Given the description of an element on the screen output the (x, y) to click on. 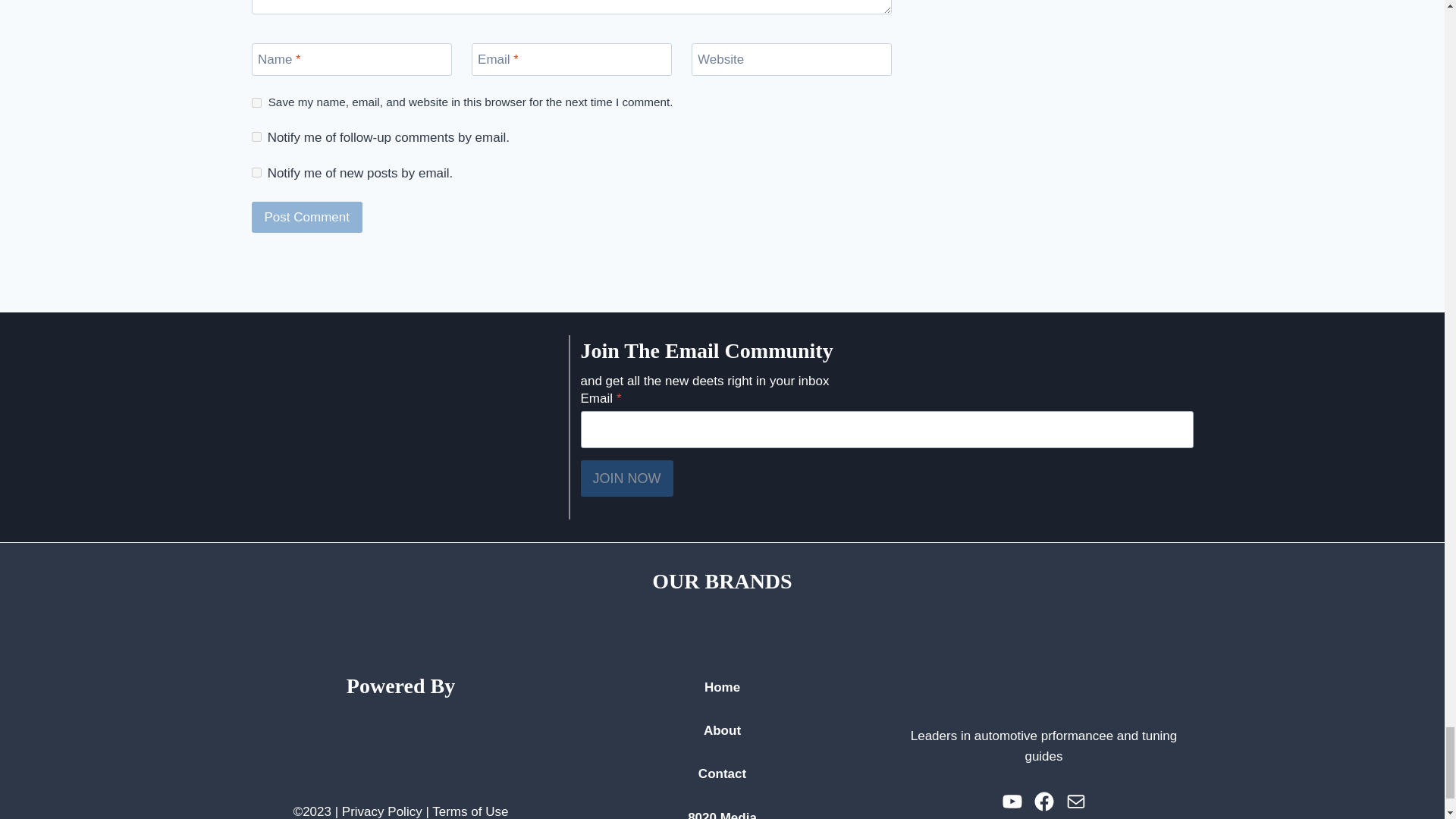
Post Comment (306, 216)
subscribe (256, 172)
subscribe (256, 136)
yes (256, 102)
